Given the description of an element on the screen output the (x, y) to click on. 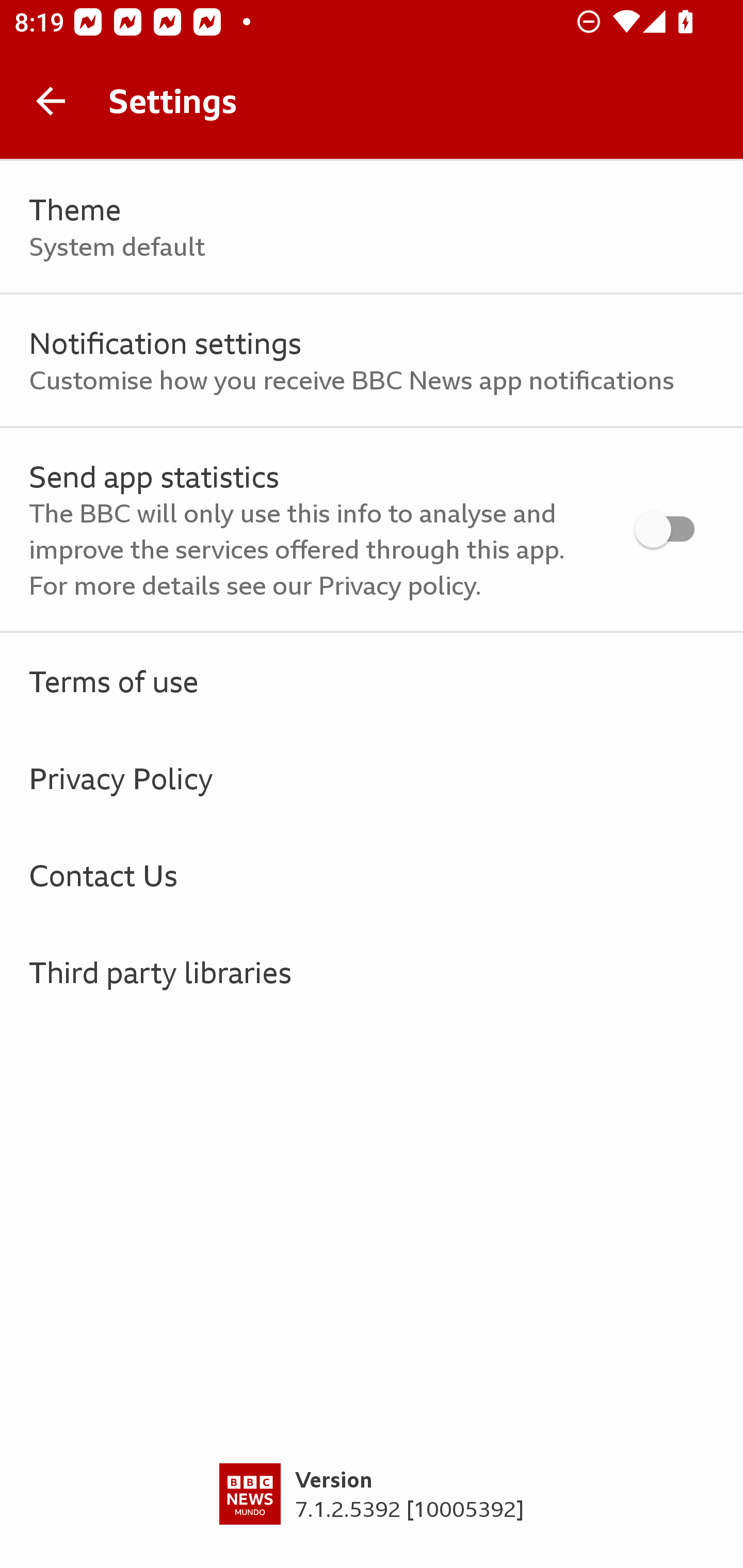
Back (50, 101)
Theme System default (371, 227)
Terms of use (371, 681)
Privacy Policy (371, 777)
Contact Us (371, 874)
Third party libraries (371, 971)
Version 7.1.2.5392 [10005392] (371, 1515)
